Given the description of an element on the screen output the (x, y) to click on. 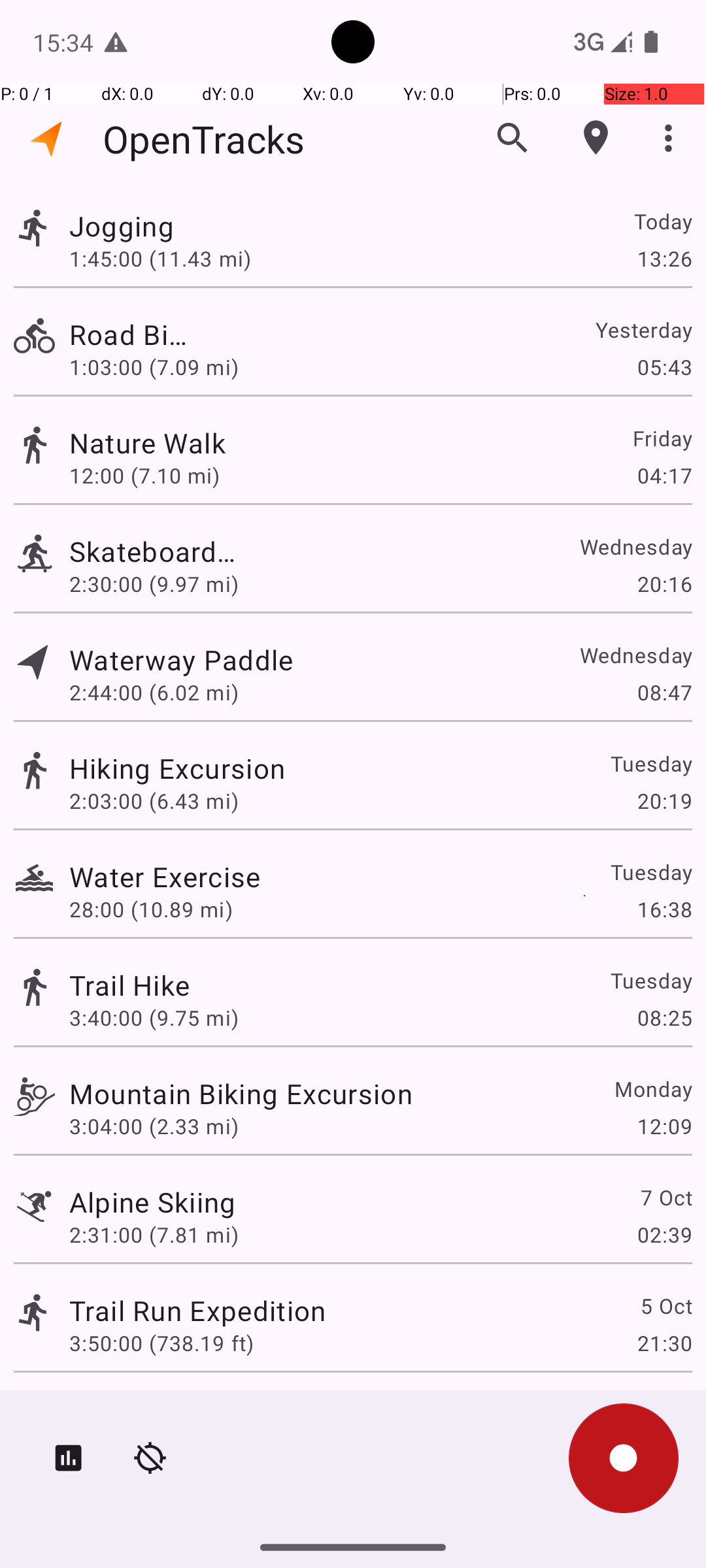
OpenTracks Element type: android.widget.TextView (203, 138)
Record Element type: android.widget.ImageButton (623, 1458)
Track Element type: android.widget.ImageView (33, 227)
Jogging Element type: android.widget.TextView (164, 225)
Today Element type: android.widget.TextView (662, 221)
1:45:00 (11.43 mi) Element type: android.widget.TextView (159, 258)
13:26 Element type: android.widget.TextView (664, 258)
Road Bike Ride Element type: android.widget.TextView (129, 333)
Yesterday Element type: android.widget.TextView (643, 329)
1:03:00 (7.09 mi) Element type: android.widget.TextView (153, 366)
05:43 Element type: android.widget.TextView (664, 366)
Nature Walk Element type: android.widget.TextView (240, 442)
Friday Element type: android.widget.TextView (661, 438)
12:00 (7.10 mi) Element type: android.widget.TextView (153, 475)
04:17 Element type: android.widget.TextView (664, 475)
Skateboard Trek Element type: android.widget.TextView (152, 550)
Wednesday Element type: android.widget.TextView (635, 546)
2:30:00 (9.97 mi) Element type: android.widget.TextView (153, 583)
20:16 Element type: android.widget.TextView (664, 583)
Waterway Paddle Element type: android.widget.TextView (197, 659)
2:44:00 (6.02 mi) Element type: android.widget.TextView (161, 692)
08:47 Element type: android.widget.TextView (664, 692)
Hiking Excursion Element type: android.widget.TextView (176, 767)
Tuesday Element type: android.widget.TextView (650, 763)
2:03:00 (6.43 mi) Element type: android.widget.TextView (153, 800)
20:19 Element type: android.widget.TextView (664, 800)
Water Exercise Element type: android.widget.TextView (164, 876)
28:00 (10.89 mi) Element type: android.widget.TextView (150, 909)
16:38 Element type: android.widget.TextView (664, 909)
Trail Hike Element type: android.widget.TextView (129, 984)
3:40:00 (9.75 mi) Element type: android.widget.TextView (153, 1017)
08:25 Element type: android.widget.TextView (664, 1017)
Mountain Biking Excursion Element type: android.widget.TextView (240, 1092)
Monday Element type: android.widget.TextView (652, 1088)
3:04:00 (2.33 mi) Element type: android.widget.TextView (153, 1125)
12:09 Element type: android.widget.TextView (664, 1125)
Alpine Skiing Element type: android.widget.TextView (152, 1201)
7 Oct Element type: android.widget.TextView (665, 1197)
2:31:00 (7.81 mi) Element type: android.widget.TextView (153, 1234)
02:39 Element type: android.widget.TextView (664, 1234)
Trail Run Expedition Element type: android.widget.TextView (197, 1309)
5 Oct Element type: android.widget.TextView (665, 1305)
3:50:00 (738.19 ft) Element type: android.widget.TextView (161, 1342)
21:30 Element type: android.widget.TextView (664, 1342)
Snow Adventure Element type: android.widget.TextView (173, 1408)
